Given the description of an element on the screen output the (x, y) to click on. 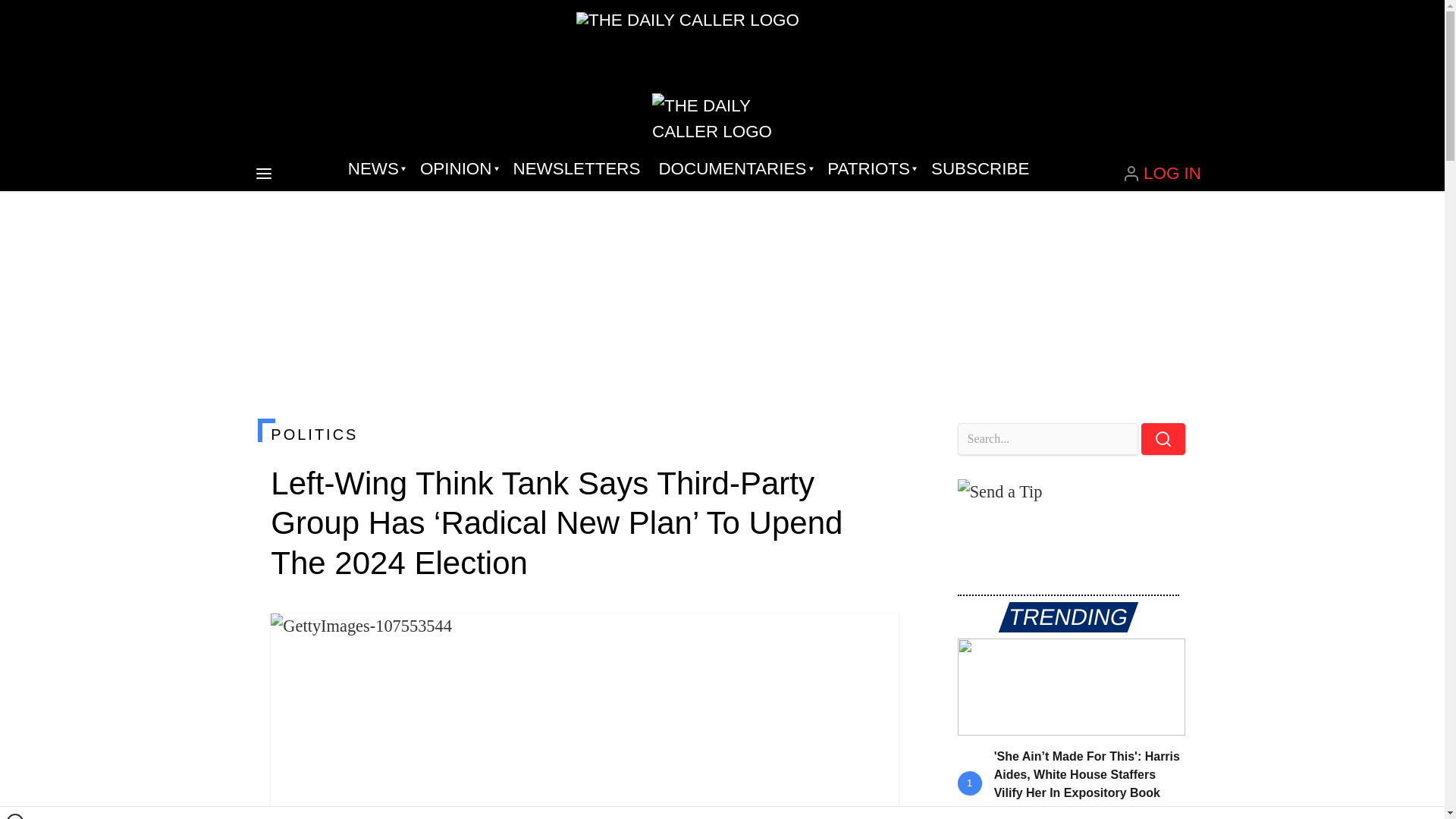
NEWSLETTERS (576, 168)
POLITICS (584, 434)
PATRIOTS (869, 168)
DOCUMENTARIES (733, 168)
Close window (14, 816)
Toggle fullscreen (874, 636)
OPINION (456, 168)
SUBSCRIBE (979, 168)
GettyImages-107553544 (584, 716)
NEWS (374, 168)
